Given the description of an element on the screen output the (x, y) to click on. 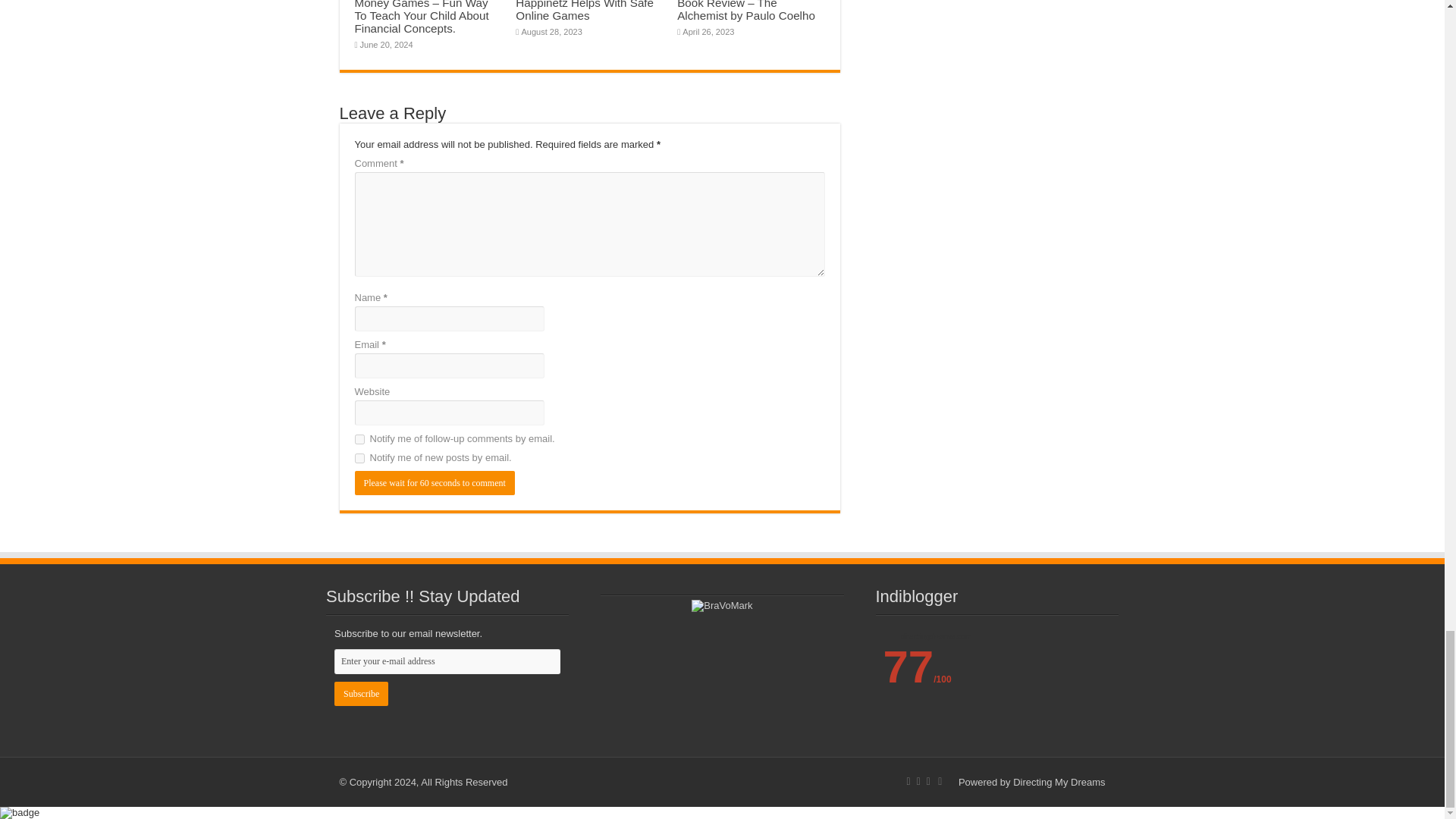
Subscribe (361, 693)
subscribe (360, 439)
subscribe (360, 458)
Please wait for 60 seconds to comment (435, 482)
Enter your e-mail address (447, 661)
